Given the description of an element on the screen output the (x, y) to click on. 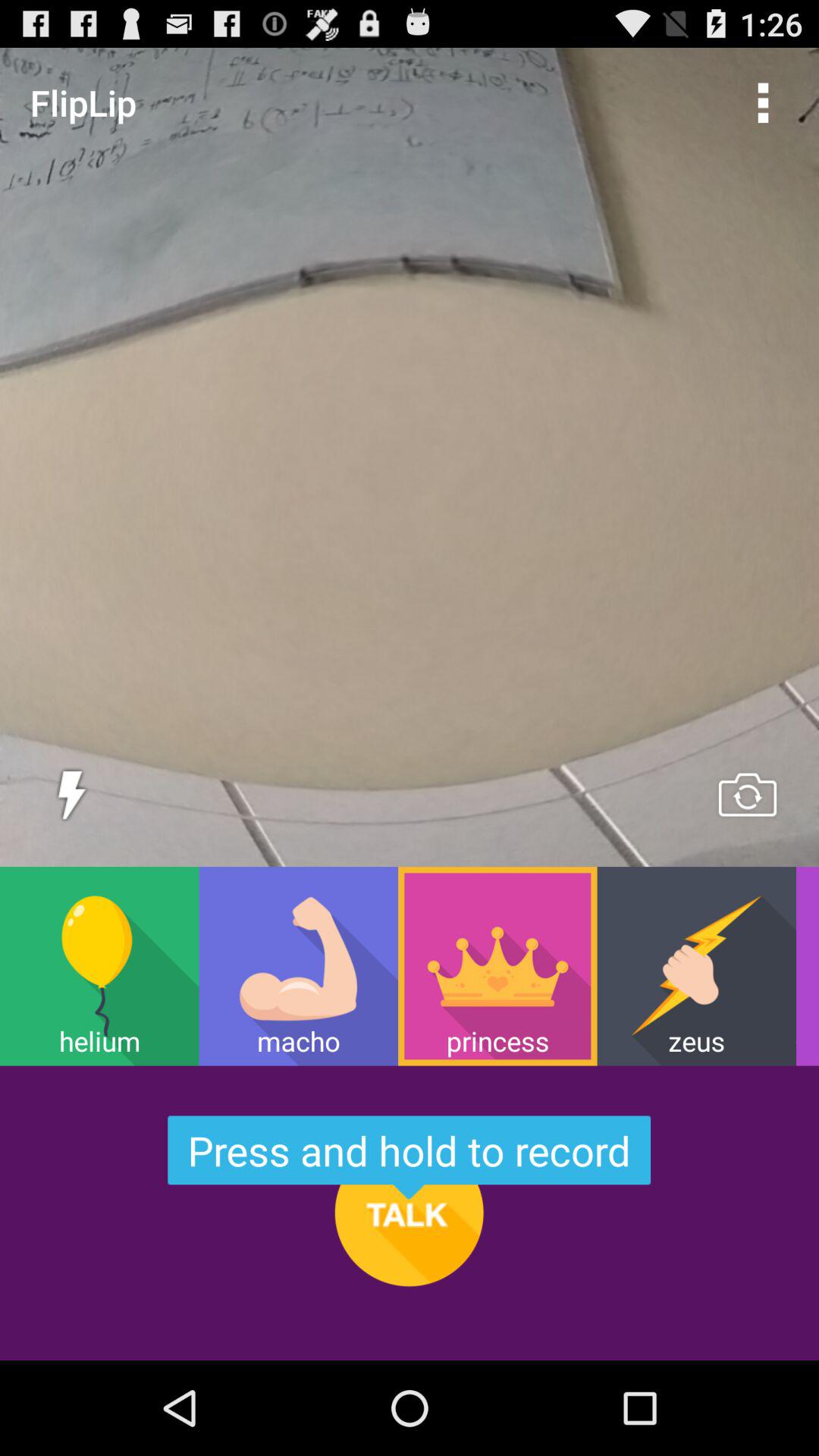
choose the icon next to the zeus (497, 965)
